Given the description of an element on the screen output the (x, y) to click on. 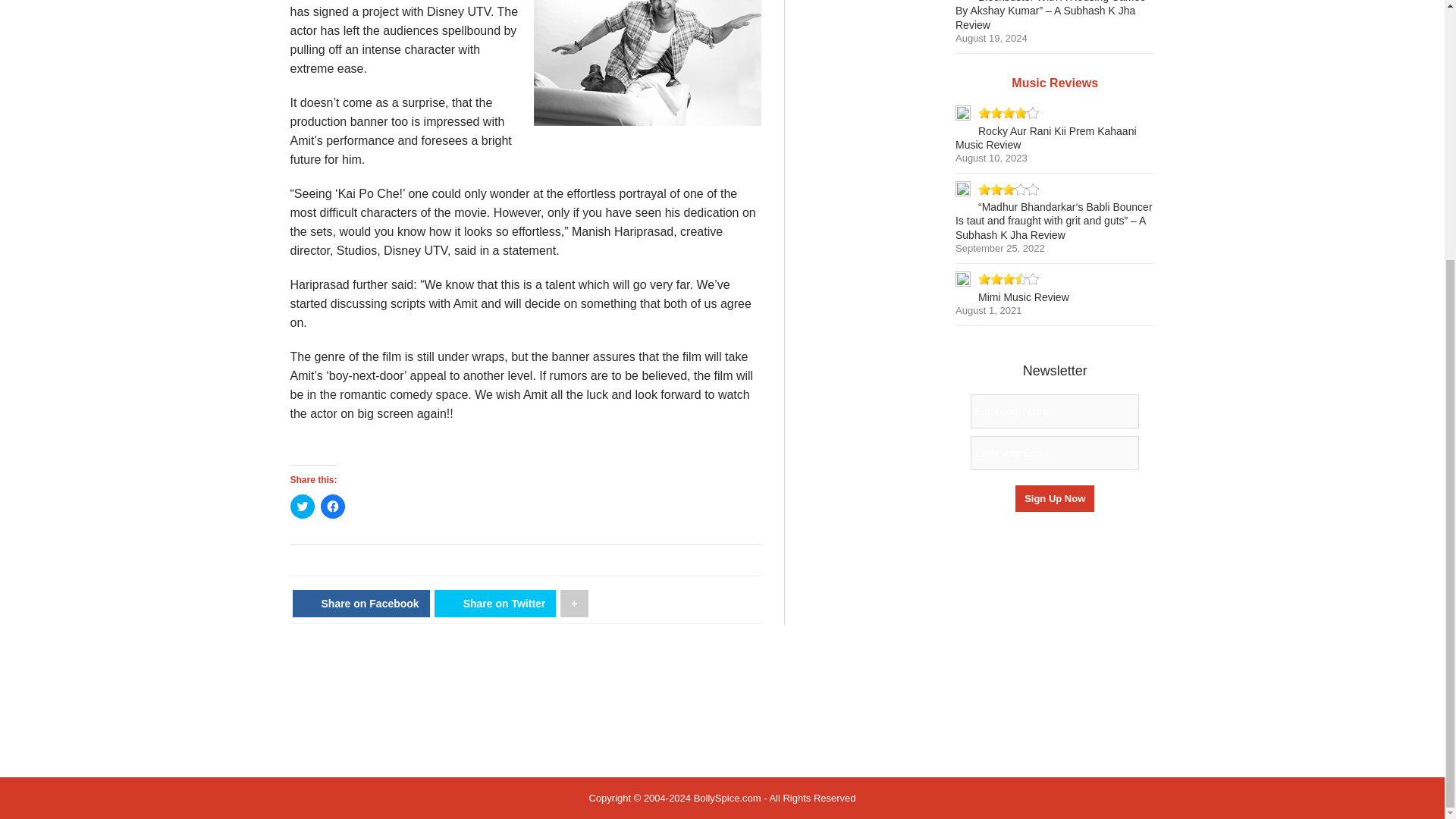
August 19, 2024 (991, 38)
August 10, 2023 (991, 157)
Sign Up Now (1054, 498)
Rocky Aur Rani Kii Prem Kahaani Music Review (1046, 137)
Click to share on Facebook (331, 506)
September 25, 2022 (1000, 247)
Click to share on Twitter (301, 506)
